Given the description of an element on the screen output the (x, y) to click on. 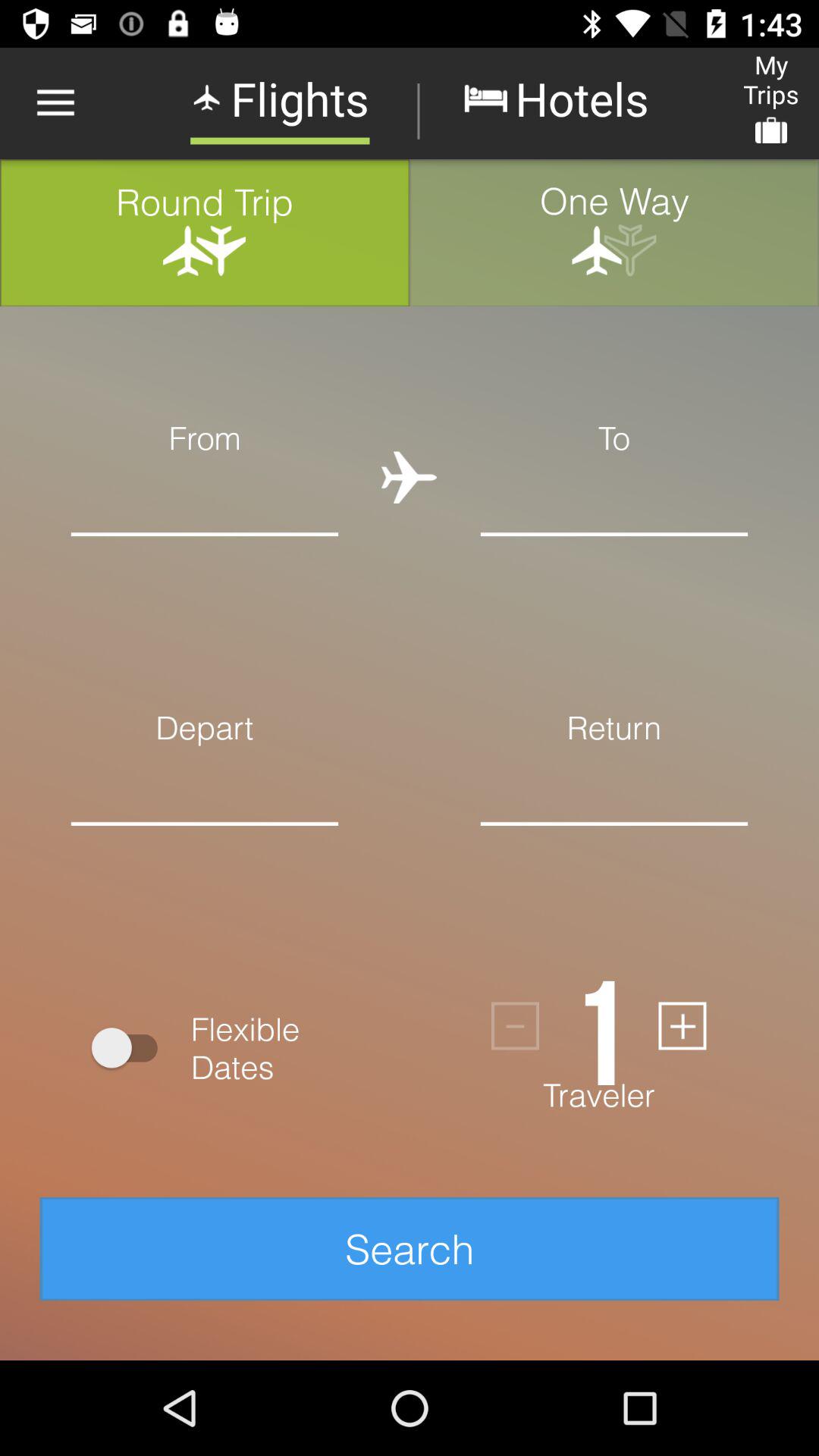
launch item above search (598, 1026)
